Given the description of an element on the screen output the (x, y) to click on. 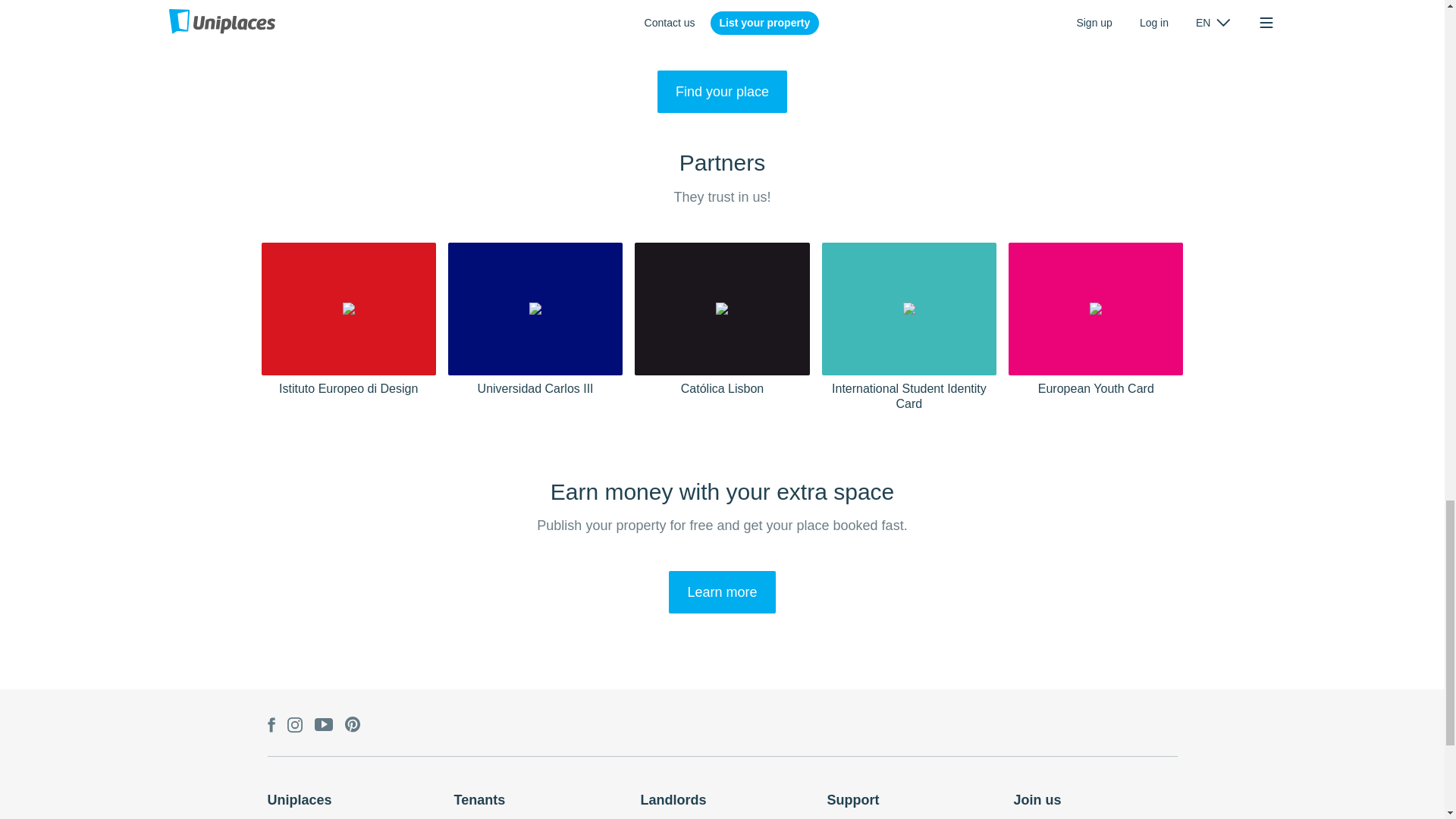
Learn more (721, 591)
Find your place (722, 91)
Youtube (322, 725)
Learn more (721, 591)
Find your place (722, 91)
